Given the description of an element on the screen output the (x, y) to click on. 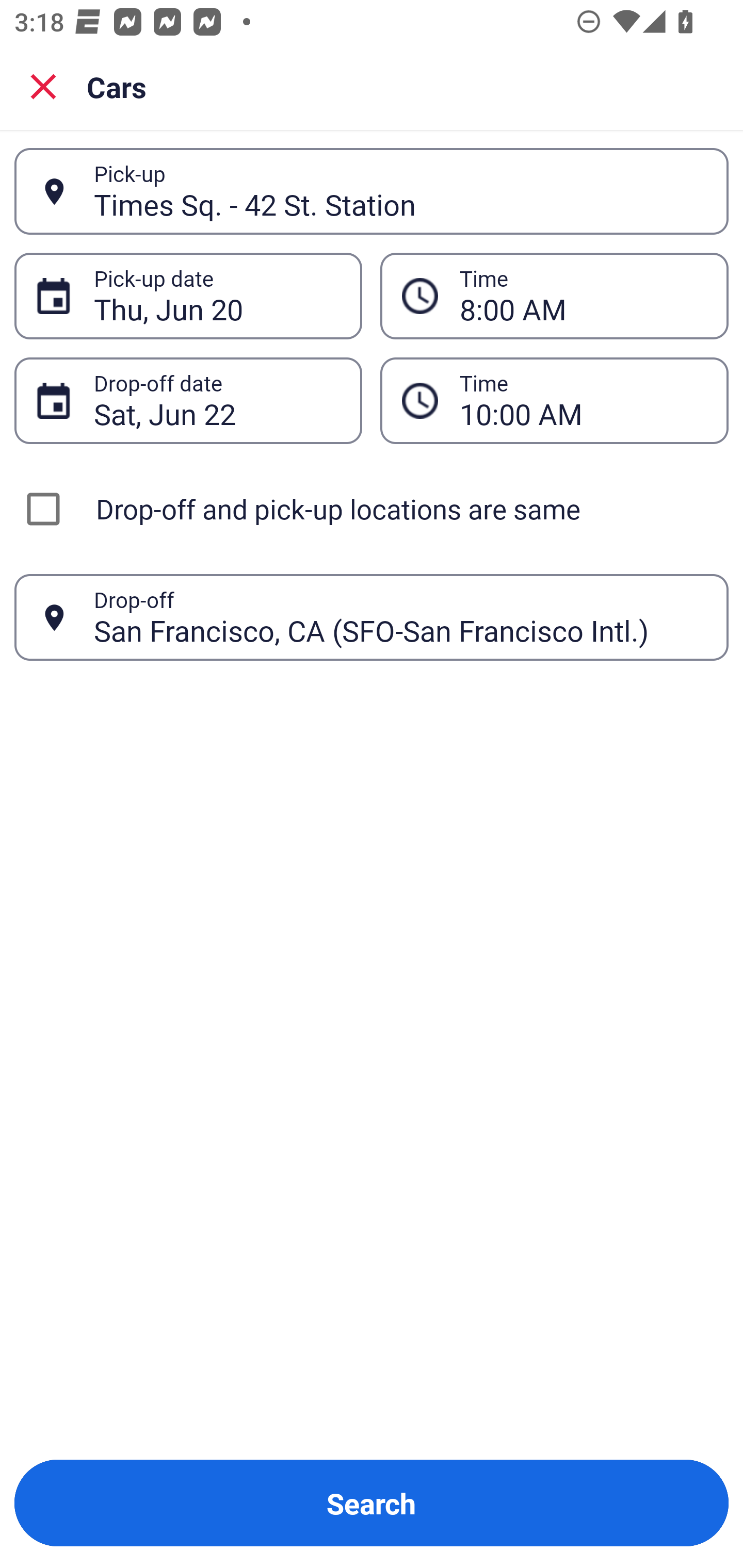
Close search screen (43, 86)
Times Sq. - 42 St. Station Pick-up (371, 191)
Times Sq. - 42 St. Station (399, 191)
Thu, Jun 20 Pick-up date (188, 295)
8:00 AM (554, 295)
Thu, Jun 20 (216, 296)
8:00 AM (582, 296)
Sat, Jun 22 Drop-off date (188, 400)
10:00 AM (554, 400)
Sat, Jun 22 (216, 400)
10:00 AM (582, 400)
Drop-off and pick-up locations are same (371, 508)
San Francisco, CA (SFO-San Francisco Intl.) (399, 616)
Search Button Search (371, 1502)
